Given the description of an element on the screen output the (x, y) to click on. 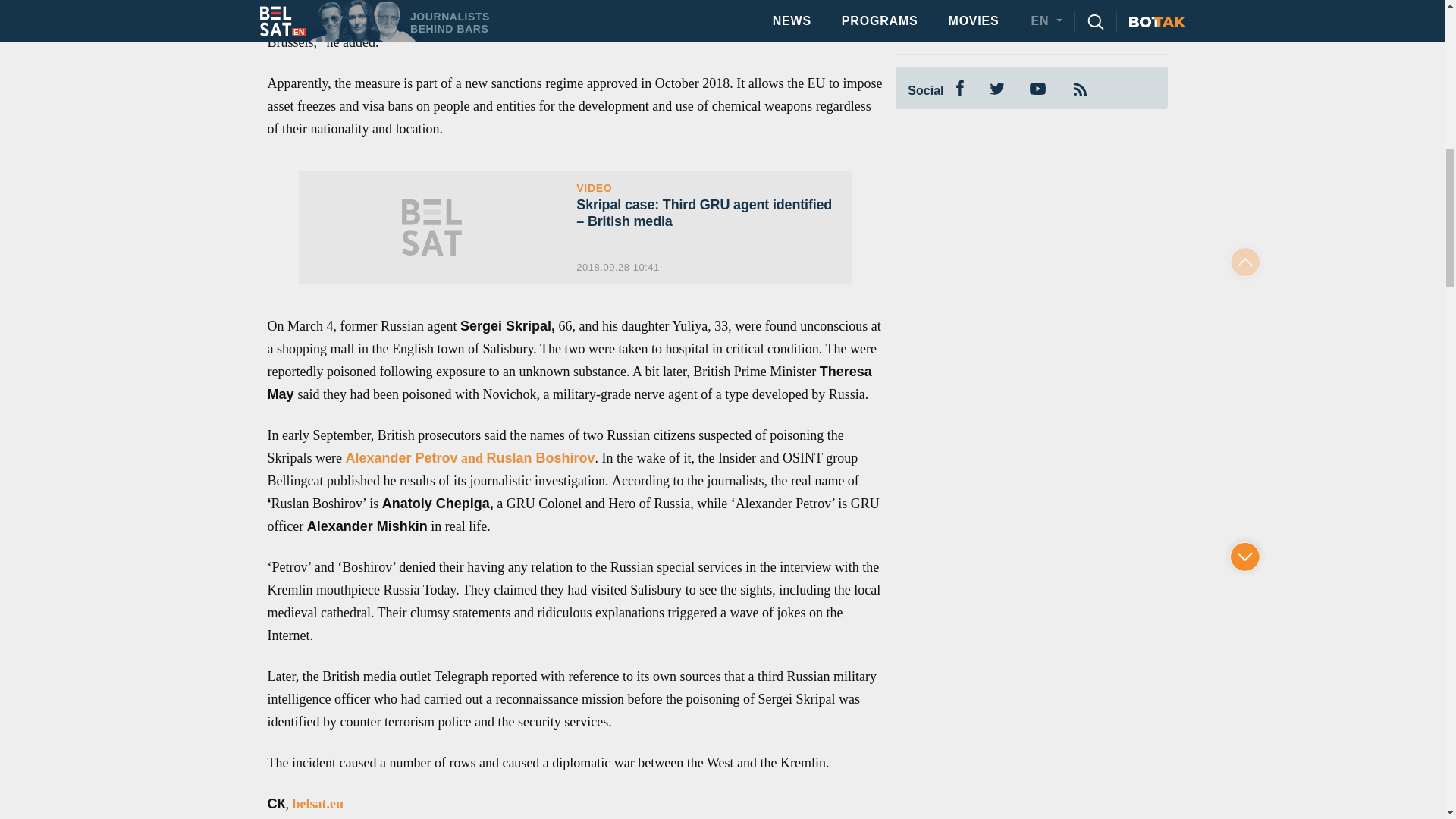
belsat.eu (317, 803)
Alexander Petrov and Ruslan Boshirov (469, 458)
